Given the description of an element on the screen output the (x, y) to click on. 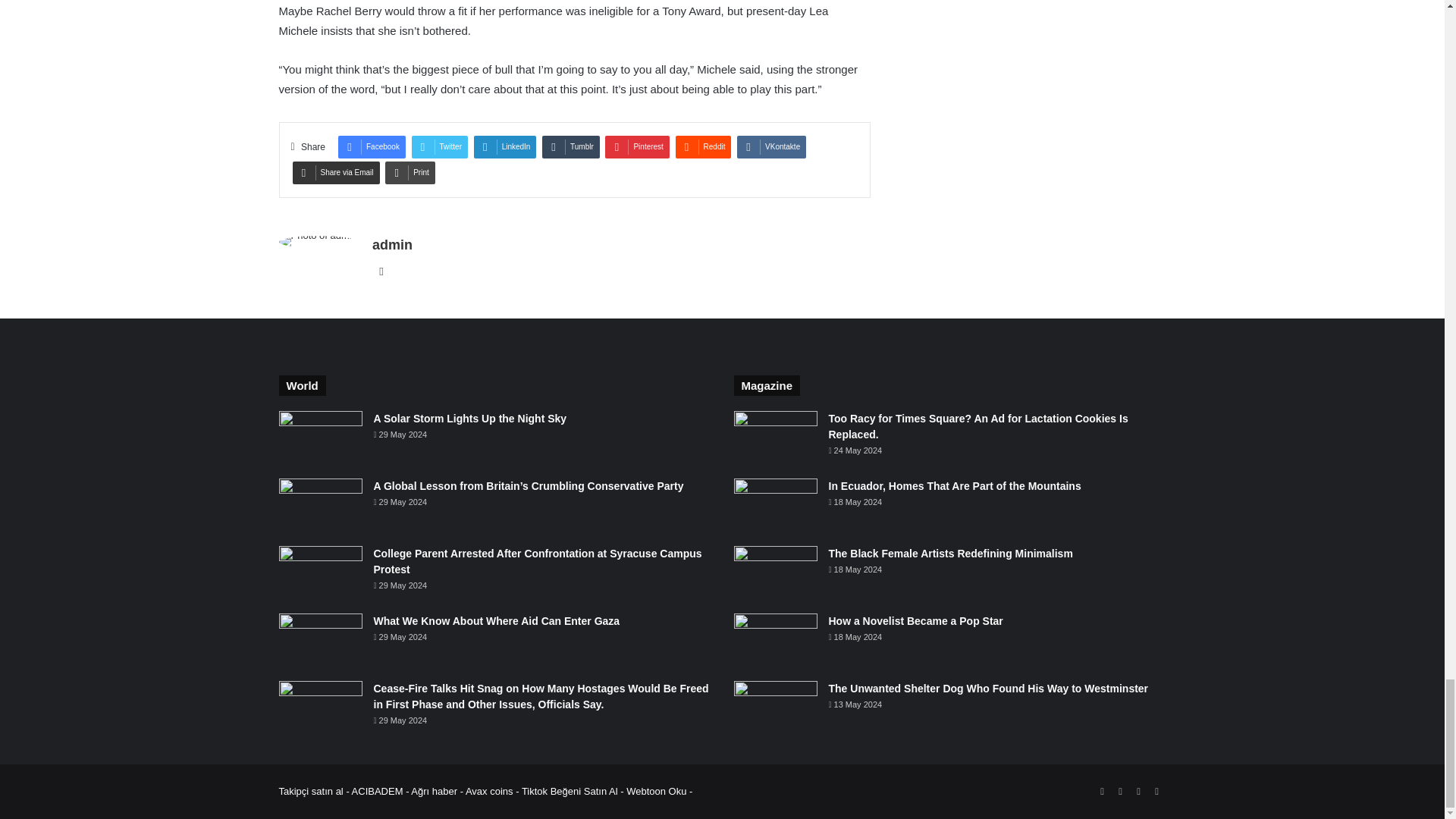
Tumblr (570, 146)
Facebook (371, 146)
LinkedIn (505, 146)
Twitter (439, 146)
